Given the description of an element on the screen output the (x, y) to click on. 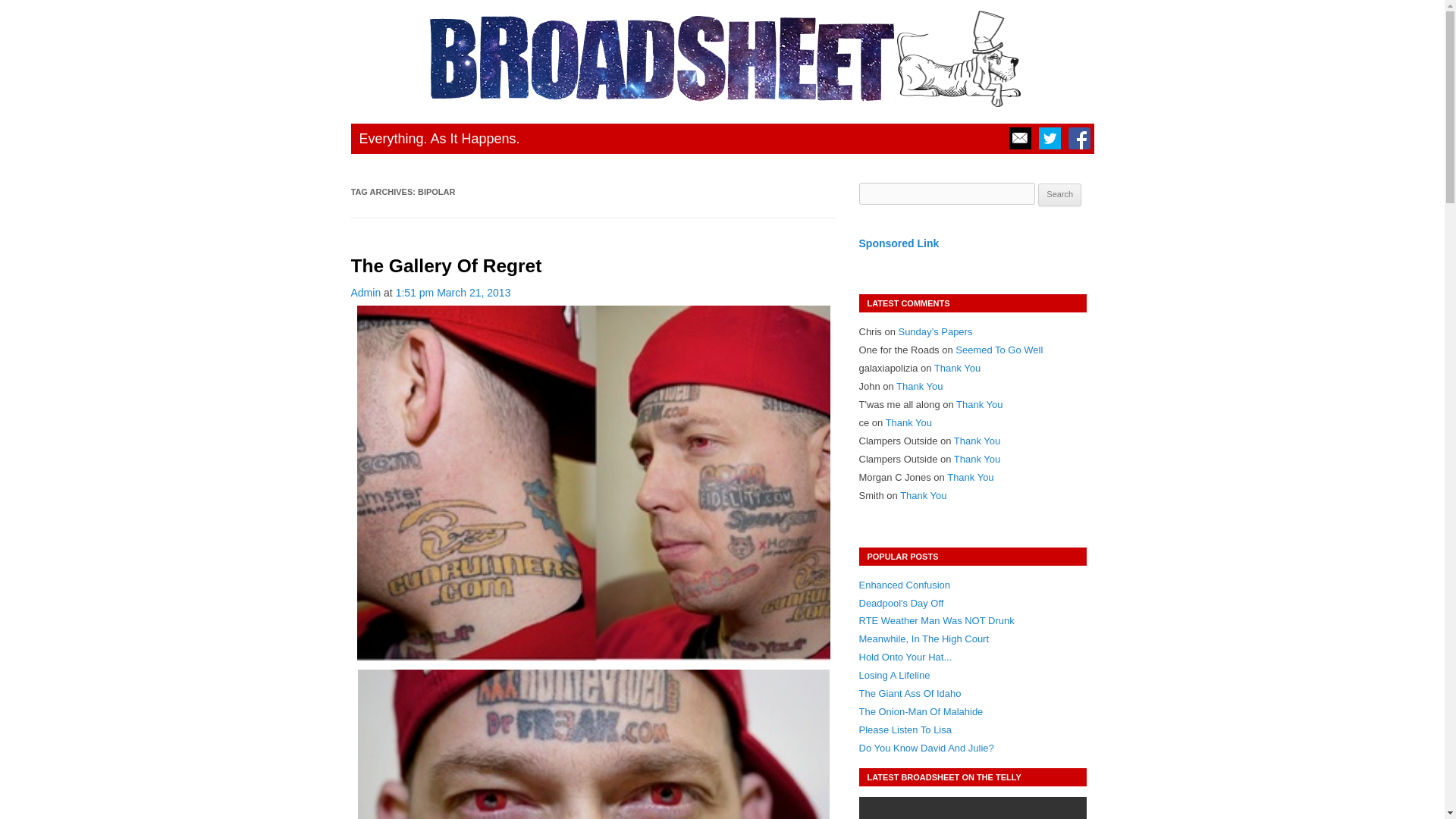
1:51 pm (453, 292)
The Gallery Of Regret (445, 265)
Admin (365, 292)
View all posts by Admin (365, 292)
1:51 pm March 21, 2013 (453, 292)
